Given the description of an element on the screen output the (x, y) to click on. 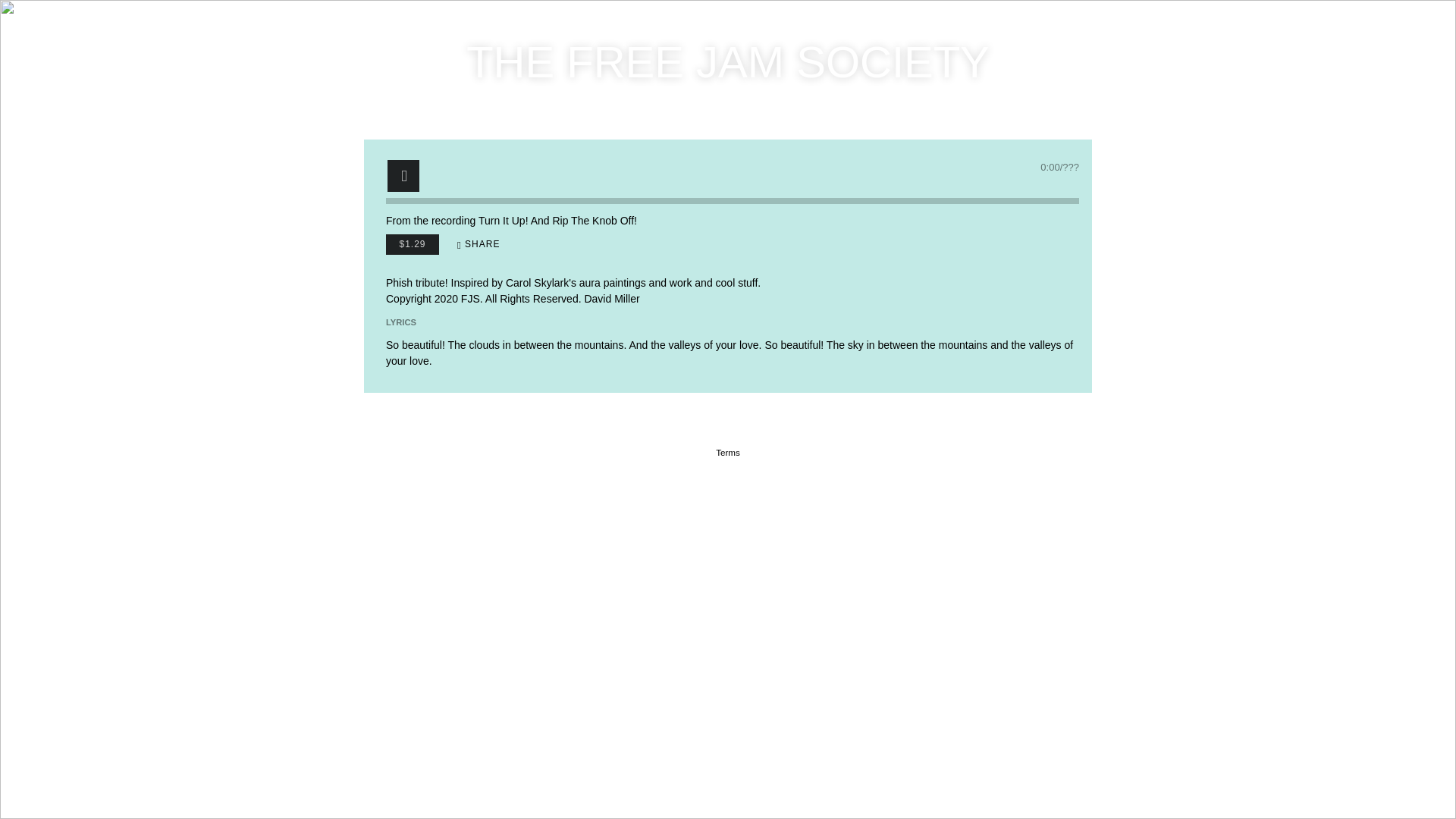
SHARE (478, 244)
Terms (727, 452)
Share So Beautiful! 24 (478, 244)
Turn It Up! And Rip The Knob Off! (558, 220)
THE FREE JAM SOCIETY (727, 70)
